Given the description of an element on the screen output the (x, y) to click on. 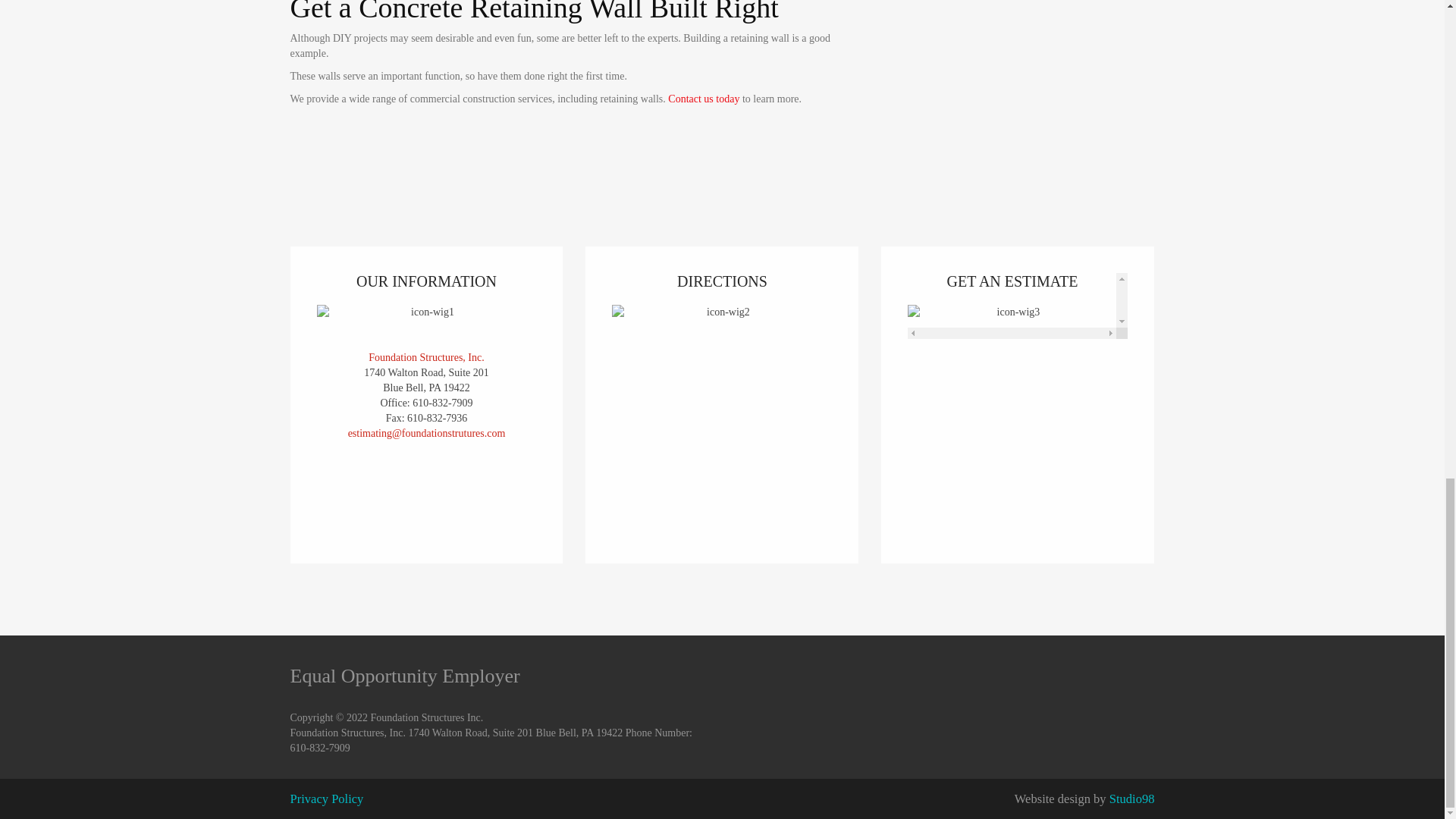
Contact us today (703, 98)
Privacy Policy (325, 799)
